Given the description of an element on the screen output the (x, y) to click on. 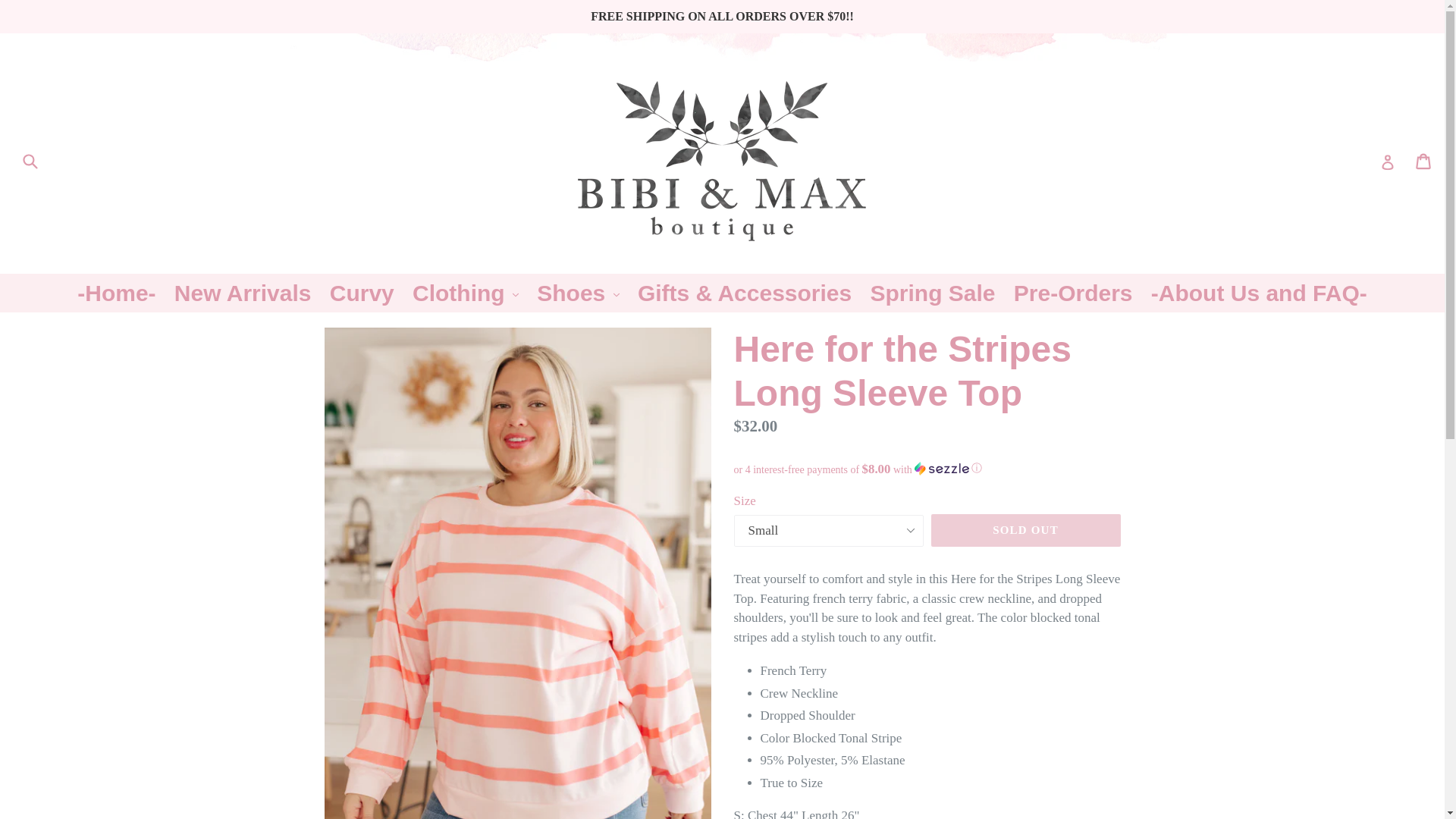
-Home- (116, 292)
Curvy (361, 292)
New Arrivals (242, 292)
